Given the description of an element on the screen output the (x, y) to click on. 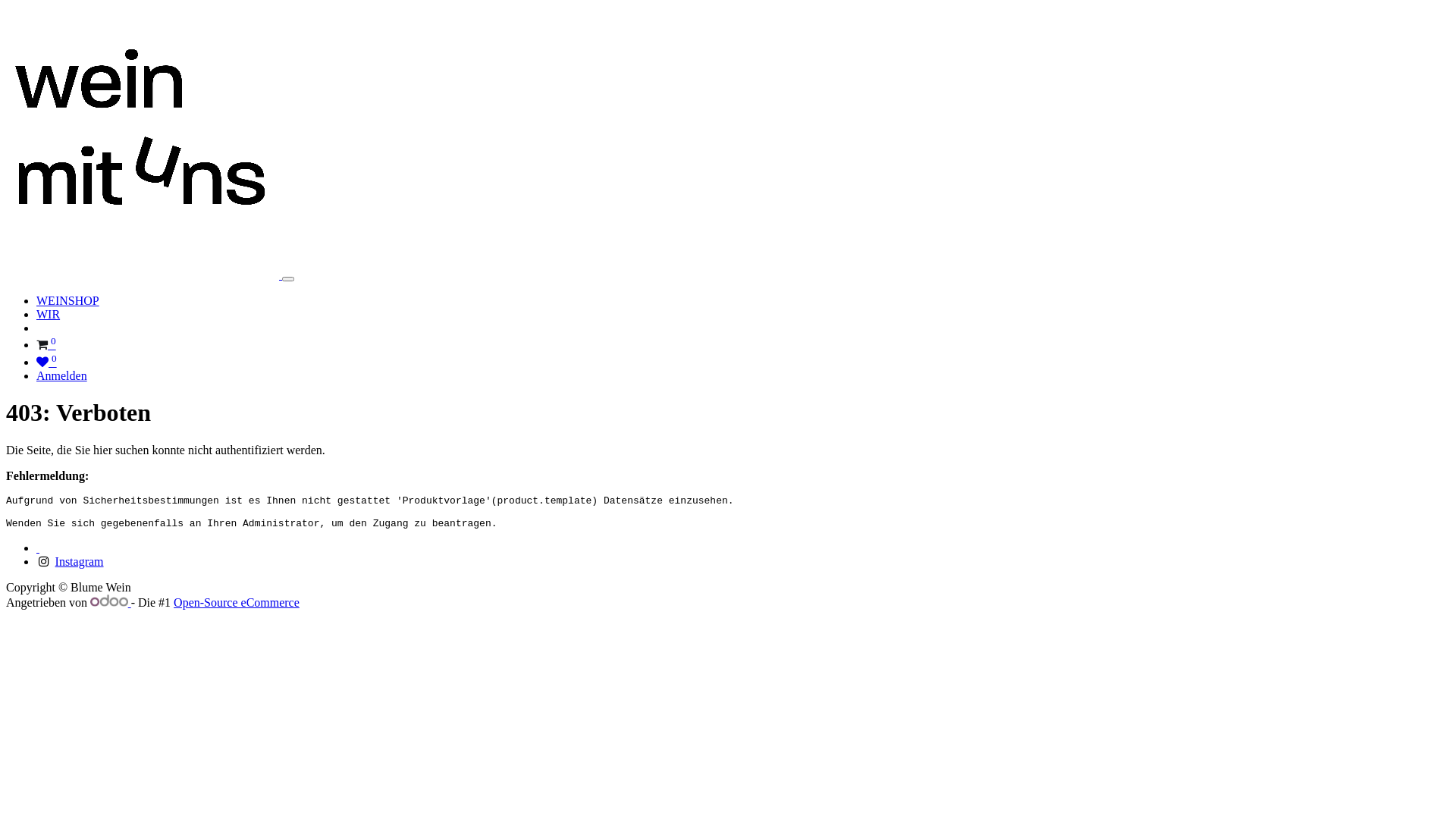
0 Element type: text (46, 344)
Paul Blume Wein Element type: hover (142, 274)
Anmelden Element type: text (61, 375)
  Element type: text (37, 547)
WEINSHOP Element type: text (67, 300)
0 Element type: text (46, 361)
Instagram Element type: text (79, 561)
WIR Element type: text (47, 313)
Open-Source eCommerce Element type: text (236, 602)
